Given the description of an element on the screen output the (x, y) to click on. 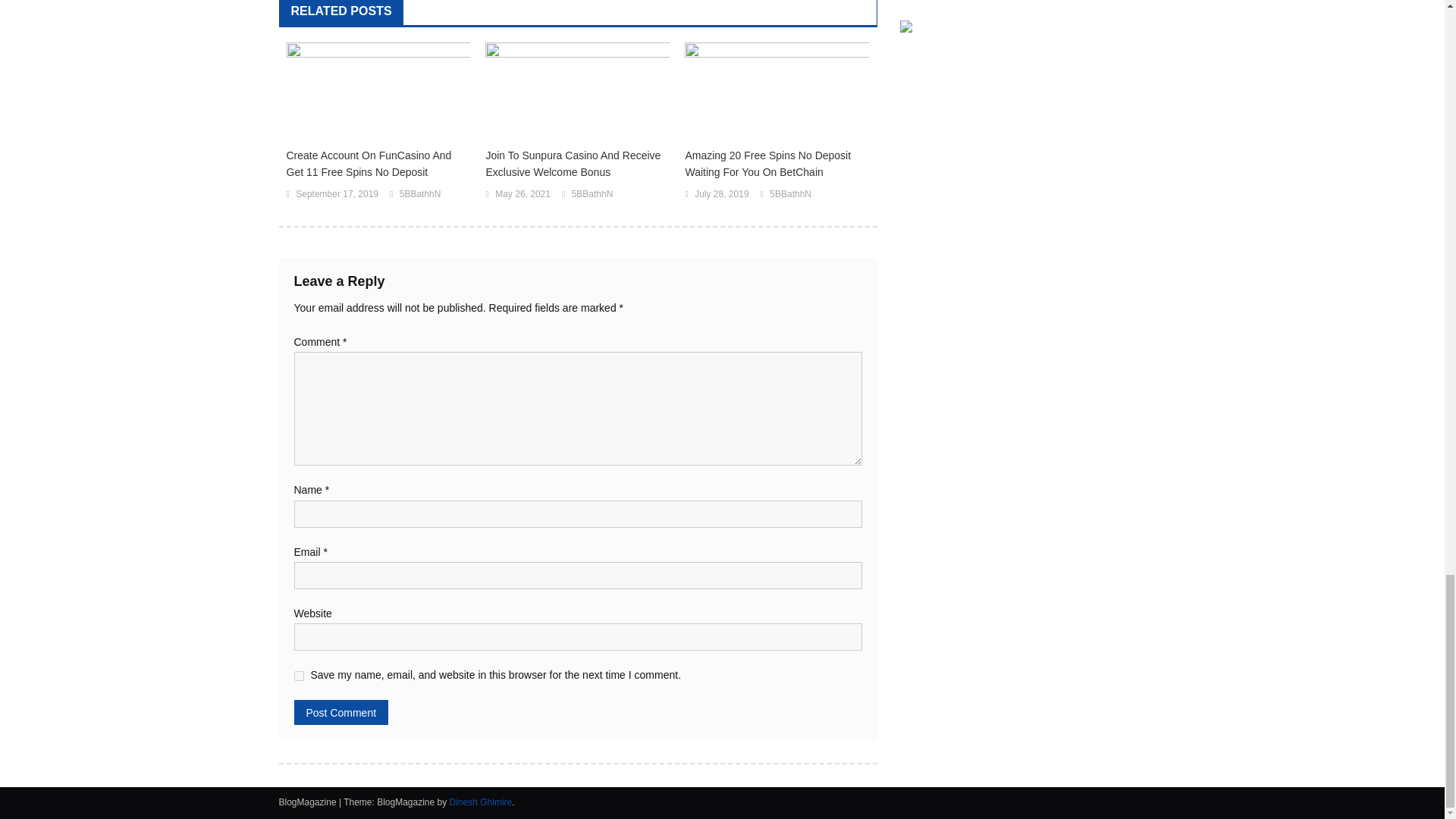
yes (299, 675)
Post Comment (341, 712)
